Given the description of an element on the screen output the (x, y) to click on. 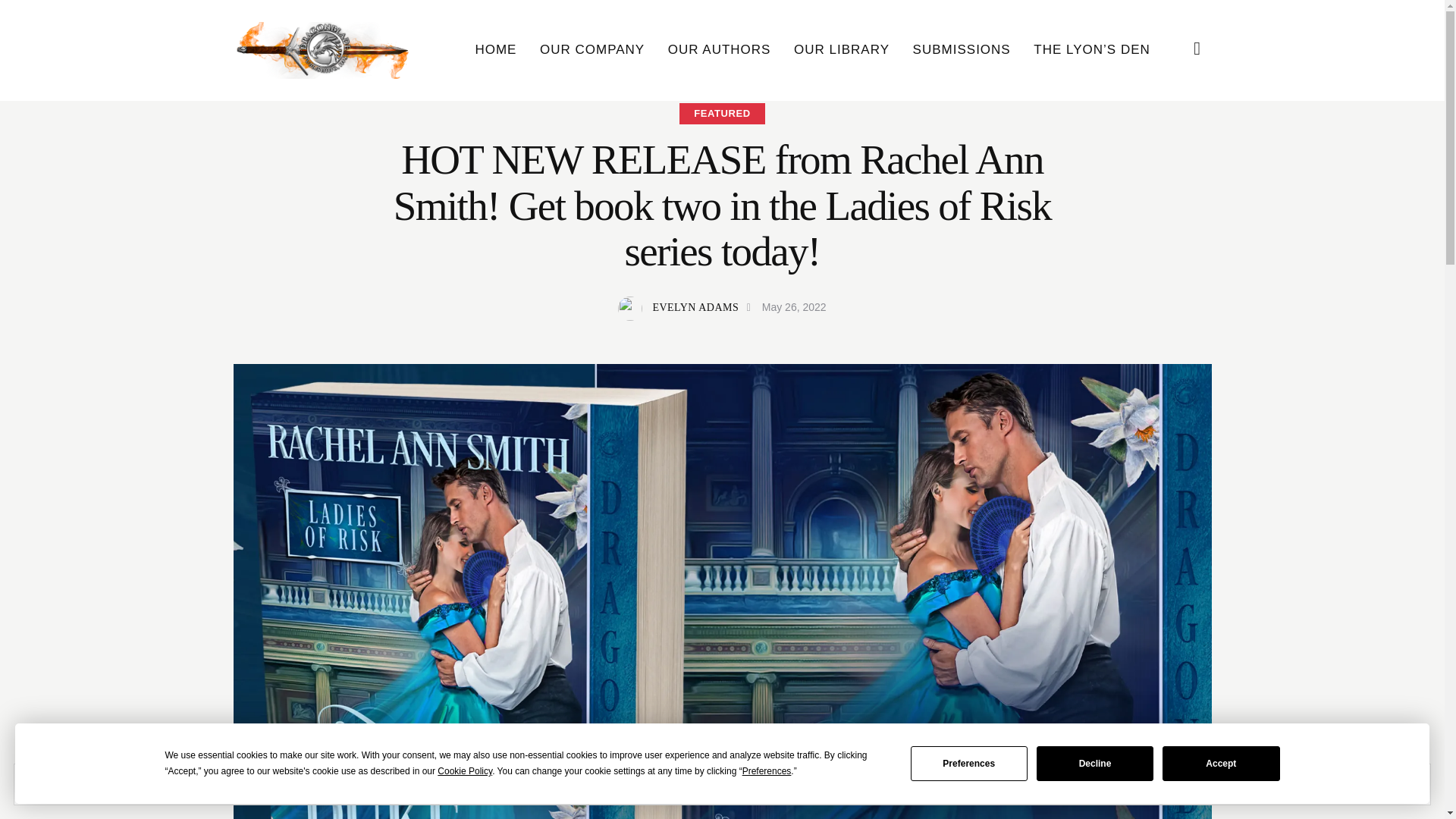
SUBMISSIONS (961, 50)
Close and accept (1361, 784)
HOME (495, 50)
Decline (1094, 763)
OUR COMPANY (592, 50)
Accept (1220, 763)
Preferences (969, 763)
OUR LIBRARY (842, 50)
OUR AUTHORS (718, 50)
